Given the description of an element on the screen output the (x, y) to click on. 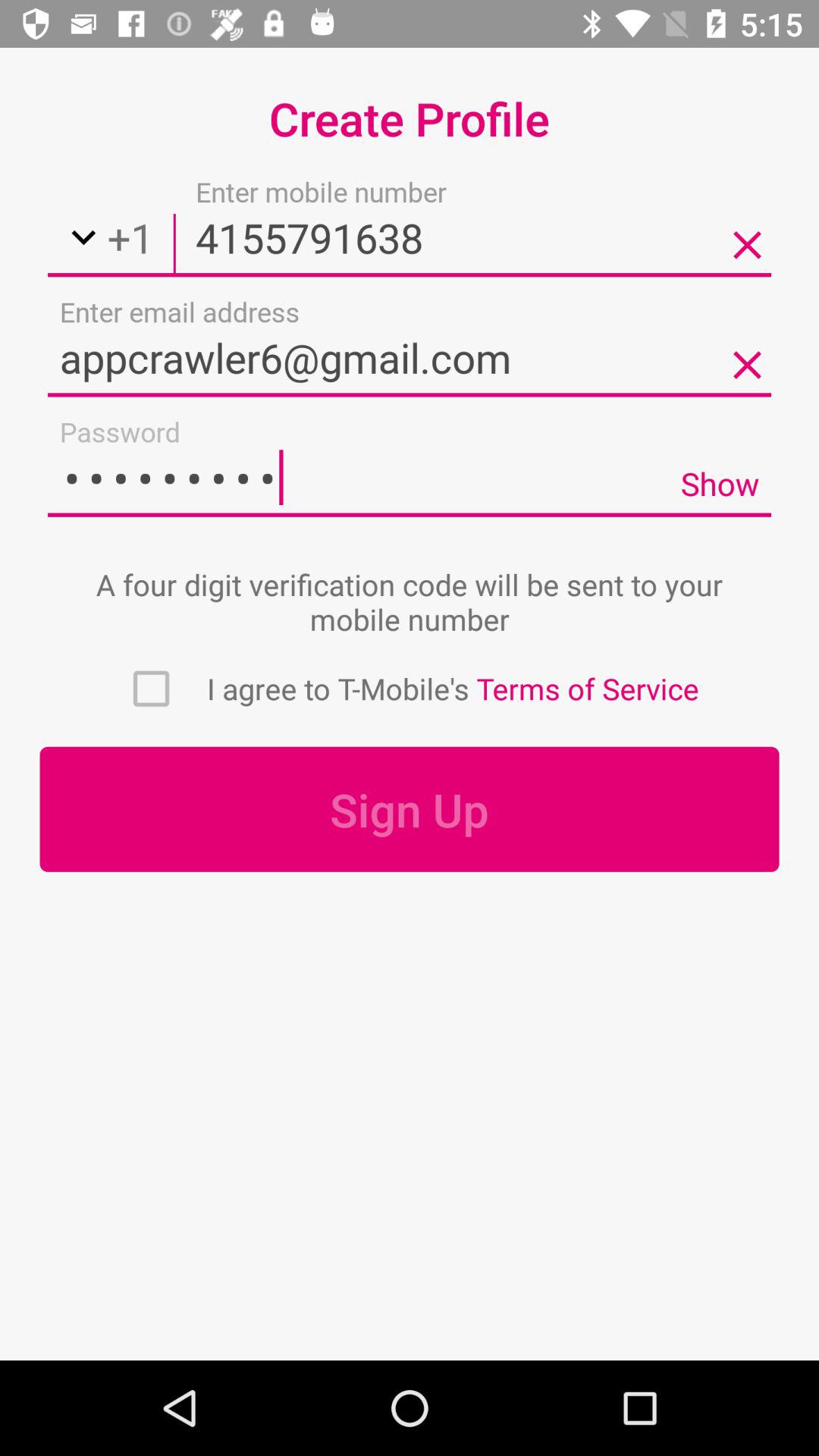
checkbox of i agree (151, 688)
